Given the description of an element on the screen output the (x, y) to click on. 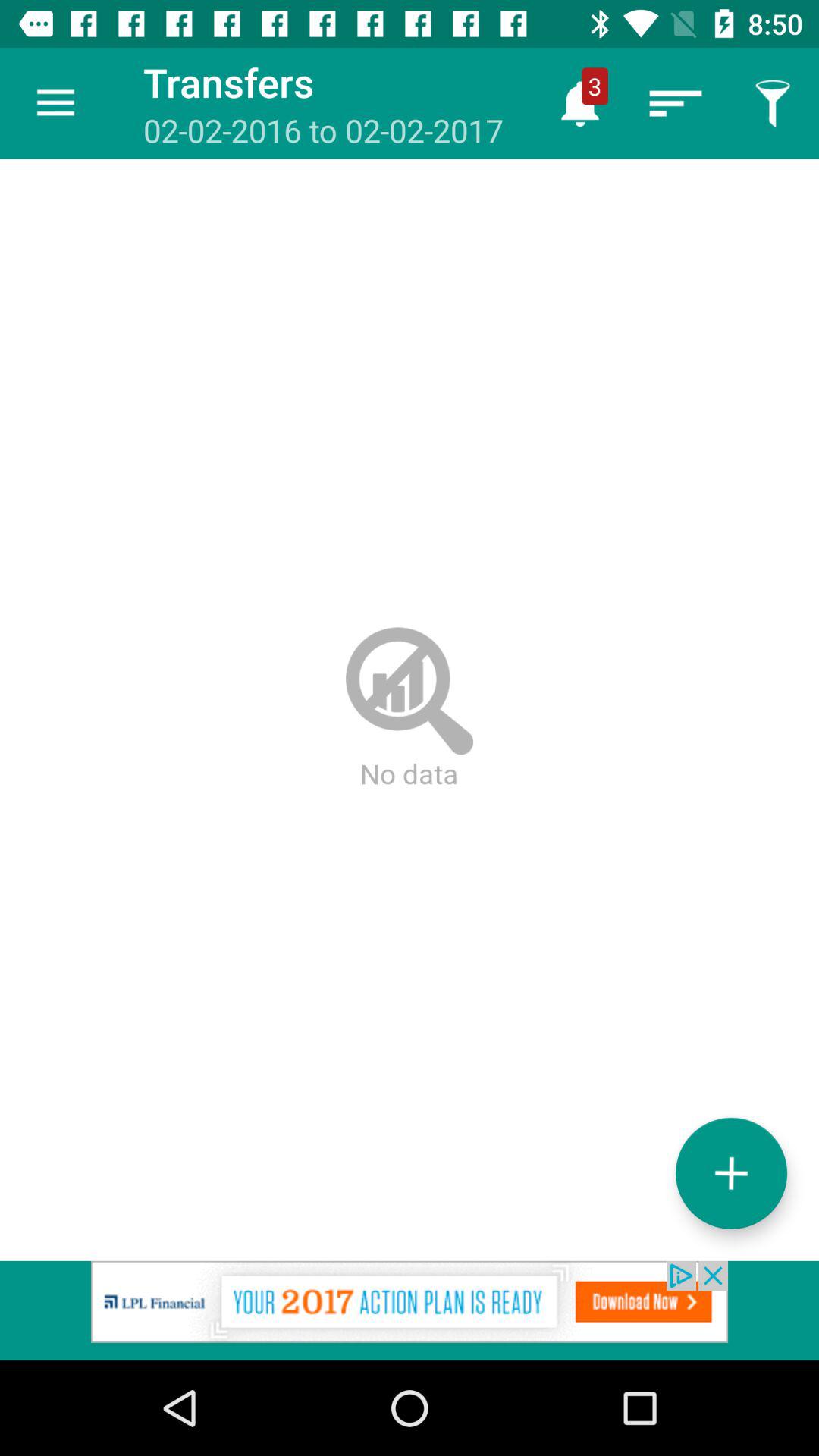
advertisement option (409, 1310)
